Given the description of an element on the screen output the (x, y) to click on. 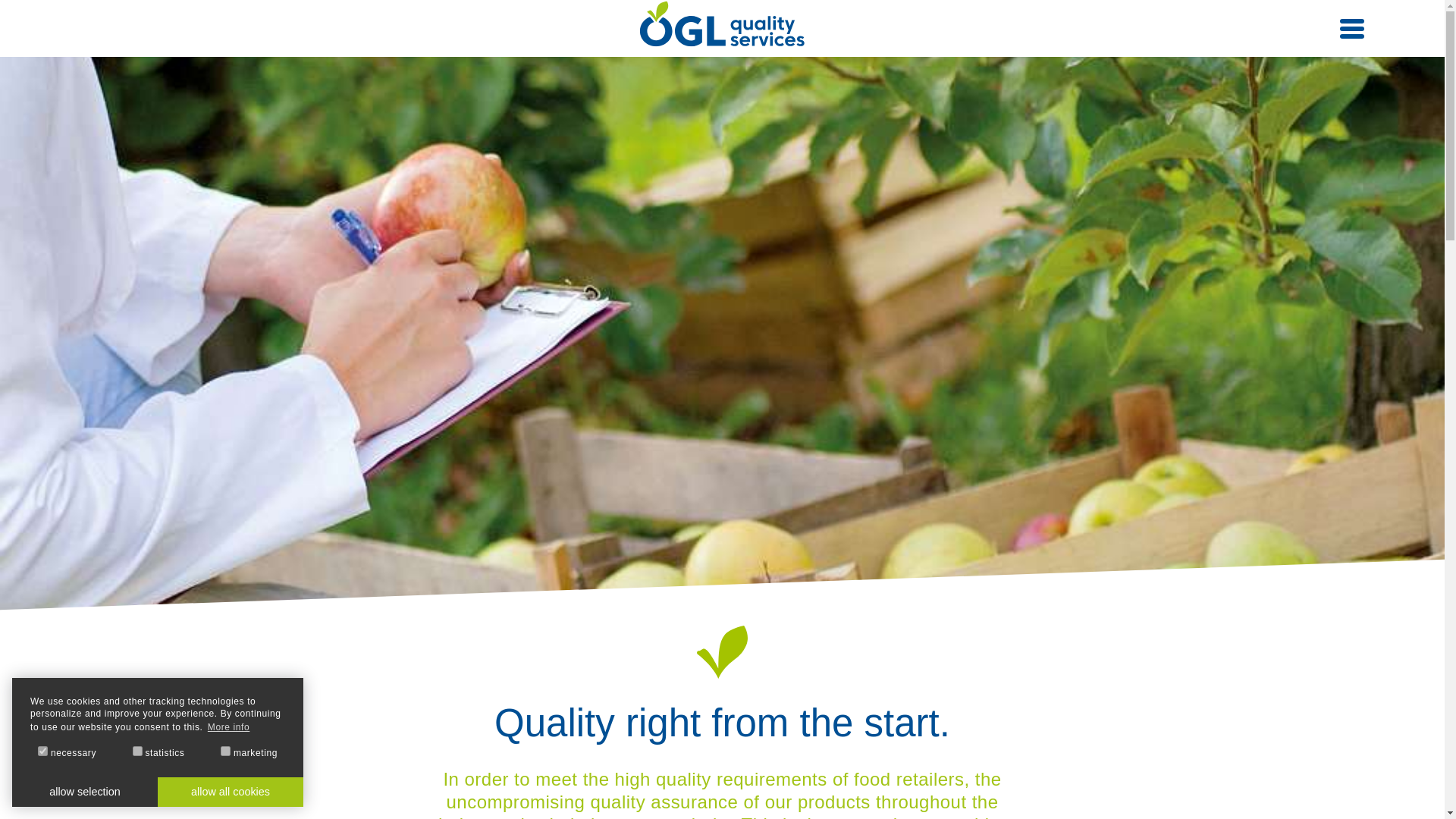
More info (227, 728)
allow selection (84, 791)
allow all cookies (229, 791)
